Given the description of an element on the screen output the (x, y) to click on. 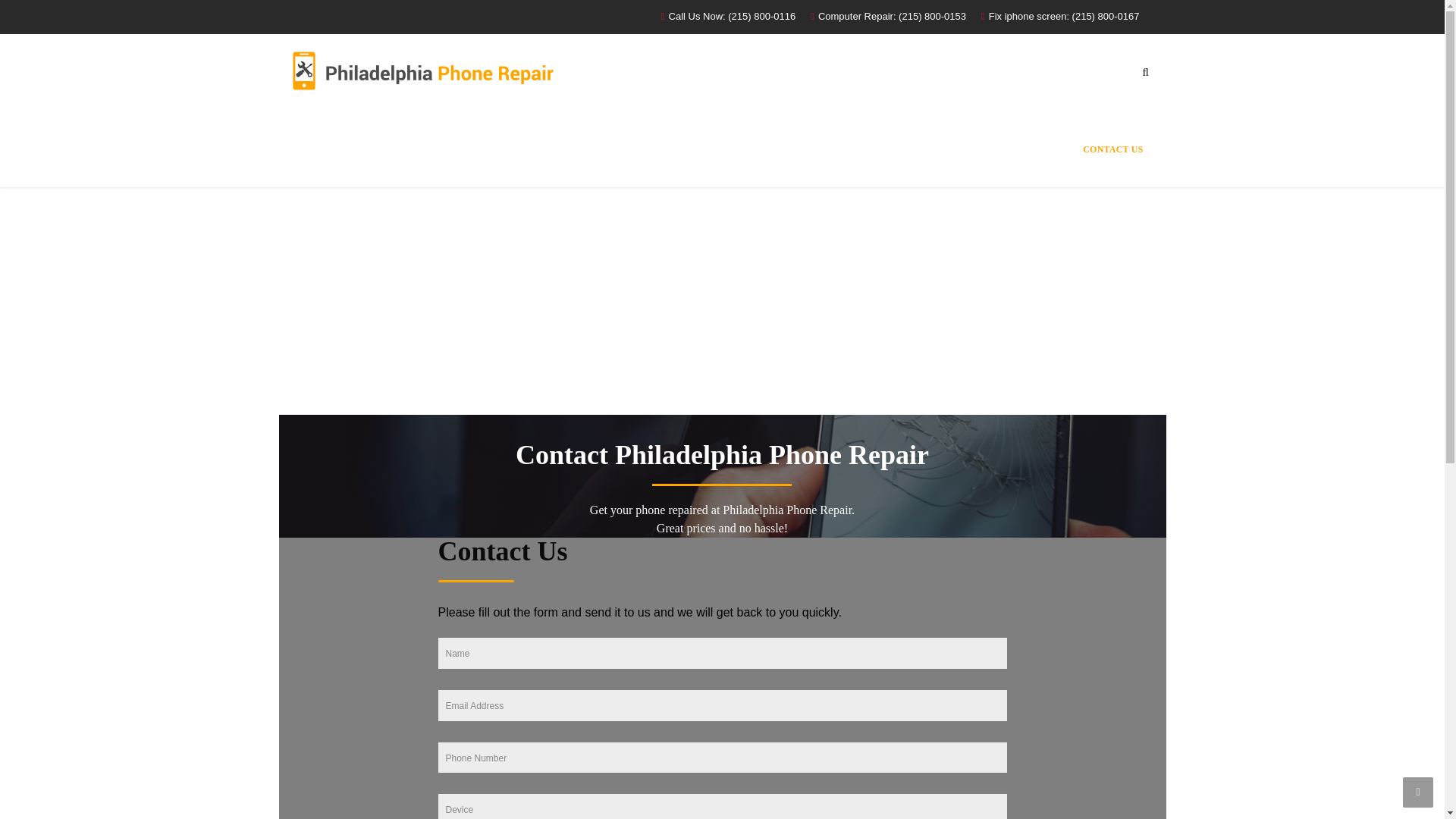
Search (1133, 136)
MAIL-IN REPAIR SERVICE (810, 149)
DEVICES WE REPAIR (942, 149)
CONTACT US (1112, 149)
Philadelphia Phone Repair  (421, 69)
SERVICES (1037, 149)
WHY CHOOSE US (646, 149)
